Given the description of an element on the screen output the (x, y) to click on. 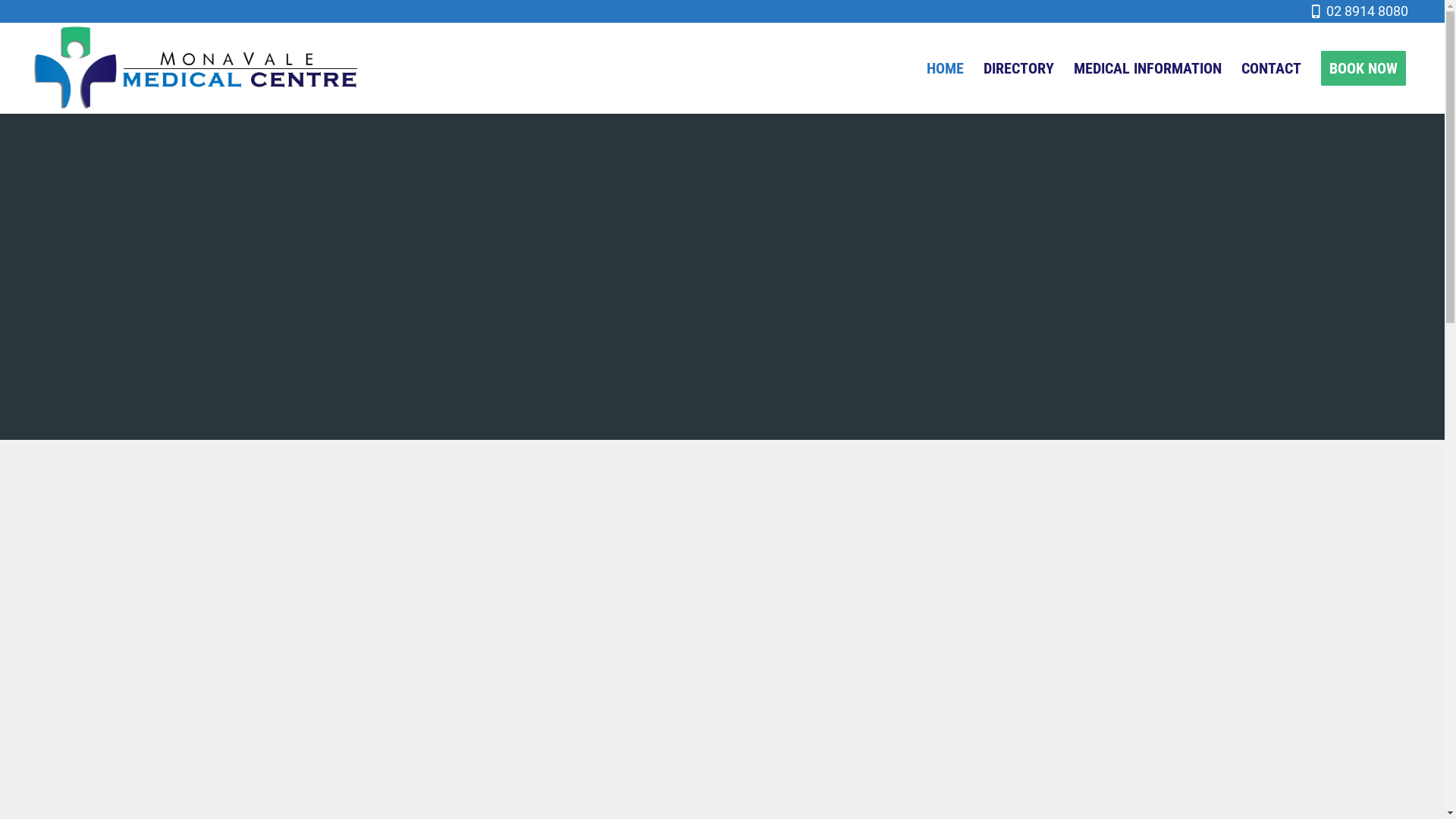
HOME Element type: text (944, 67)
BOOK NOW Element type: text (1363, 67)
DIRECTORY Element type: text (1018, 67)
logo_Mona_Vale_final-01 Element type: hover (195, 67)
CONTACT Element type: text (1271, 67)
MEDICAL INFORMATION Element type: text (1147, 67)
02 8914 8080 Element type: text (1370, 10)
